Given the description of an element on the screen output the (x, y) to click on. 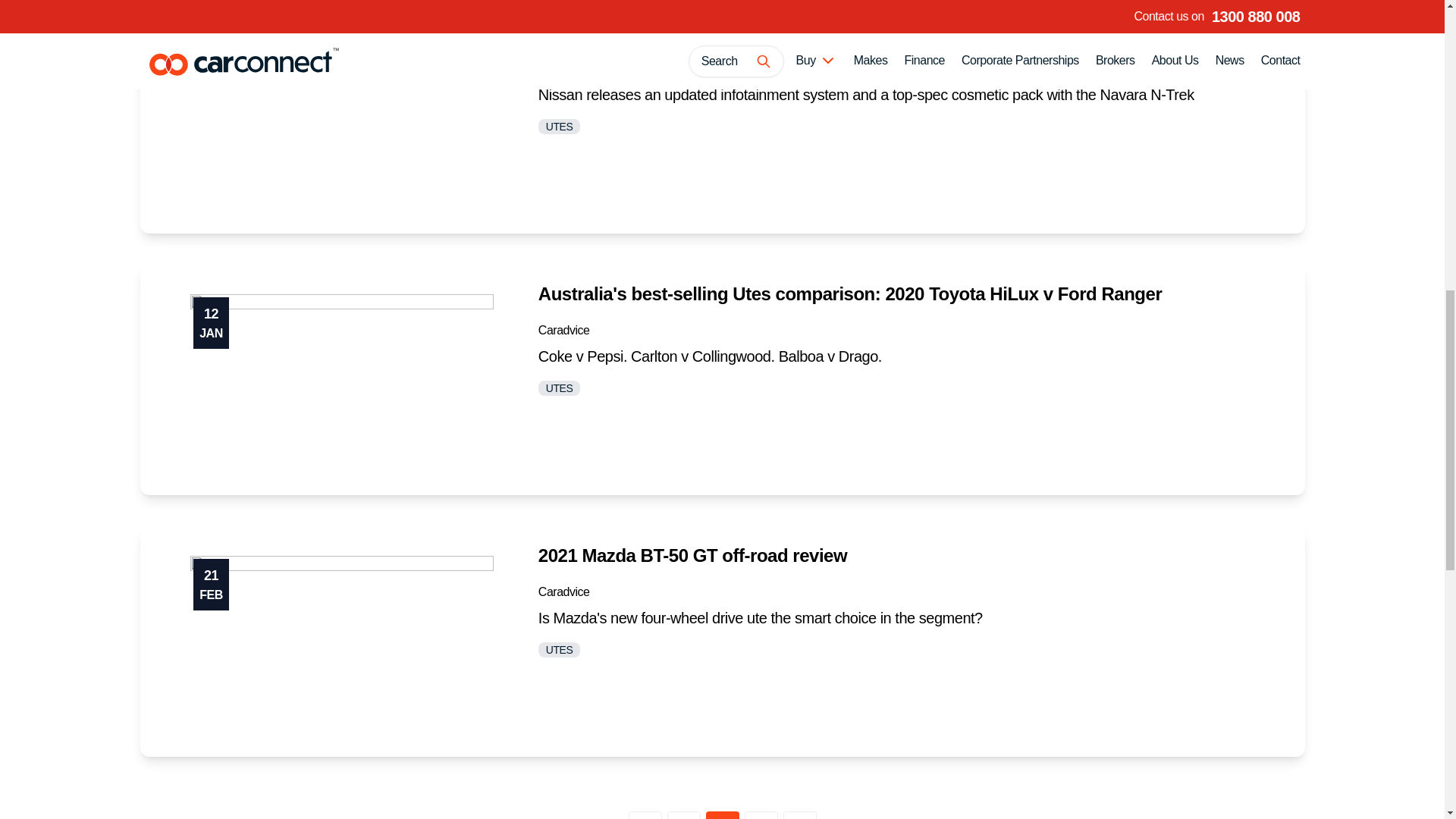
Caradvice (563, 68)
UTES (558, 126)
Caradvice (563, 329)
UTES (558, 388)
2019 Nissan Navara N-Trek review (679, 32)
2021 Mazda BT-50 GT off-road review (692, 555)
UTES (558, 649)
Caradvice (563, 591)
